Given the description of an element on the screen output the (x, y) to click on. 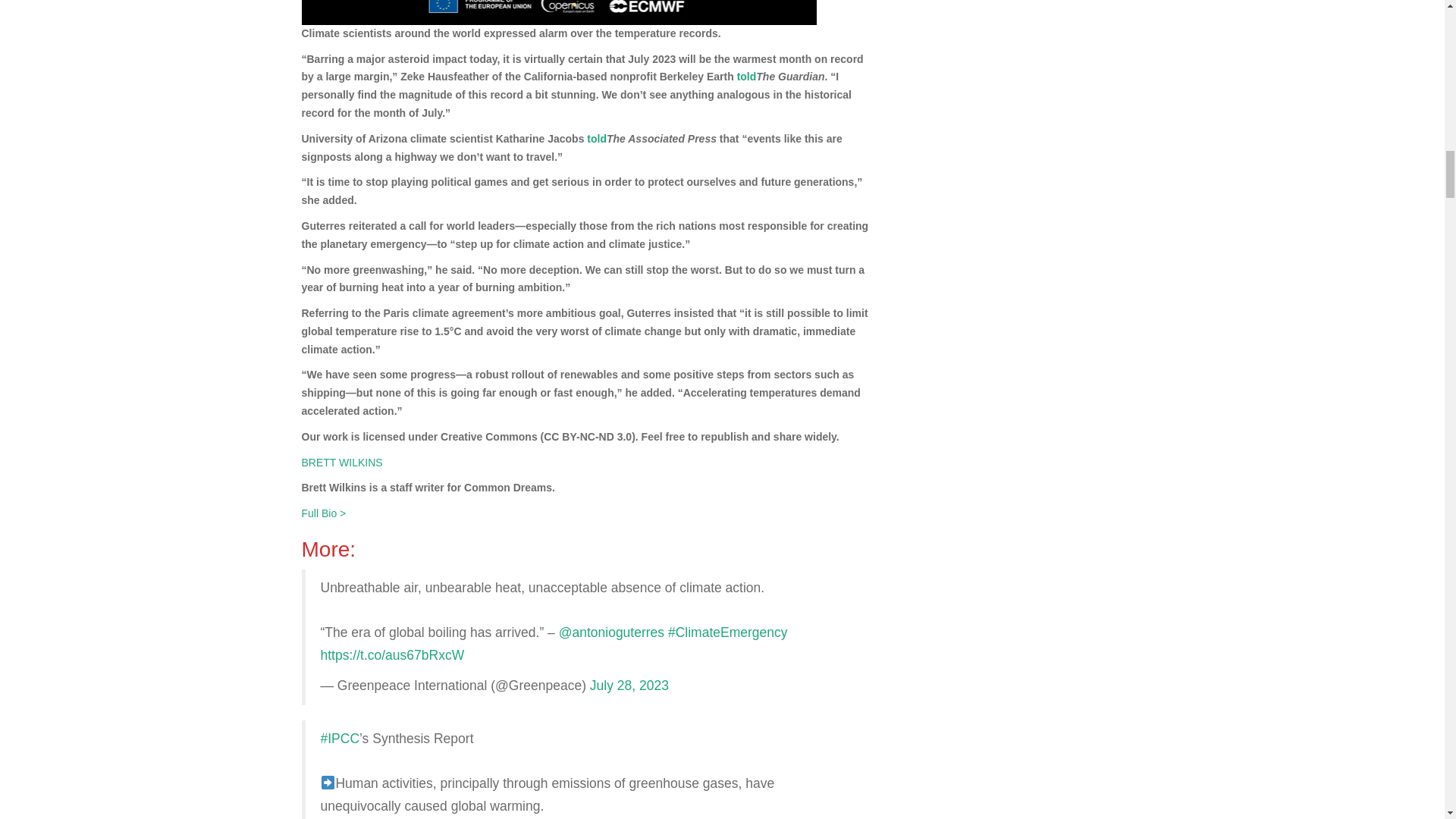
July 28, 2023 (628, 685)
told (596, 138)
told (746, 76)
BRETT WILKINS (341, 462)
